Given the description of an element on the screen output the (x, y) to click on. 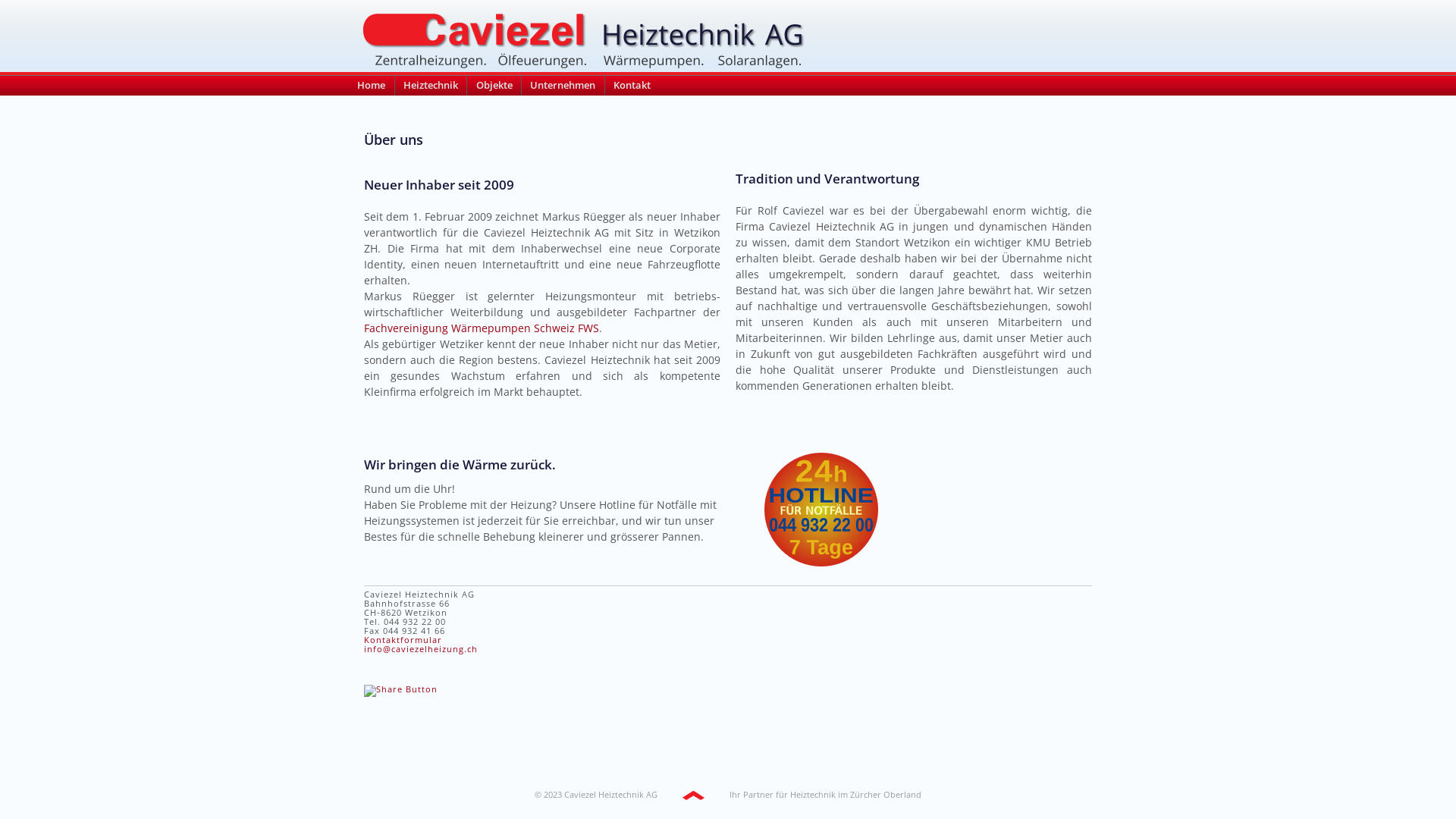
Kontakt Element type: text (631, 85)
Objekte Element type: text (493, 85)
info@caviezelheizung.ch Element type: text (420, 648)
Caviezel Heiztechnik AG Element type: text (610, 794)
hochscrollen Element type: hover (693, 794)
Heiztechnik Element type: text (430, 85)
Unternehmen Element type: text (562, 85)
Home Element type: text (371, 85)
Kontaktformular Element type: text (403, 639)
